Given the description of an element on the screen output the (x, y) to click on. 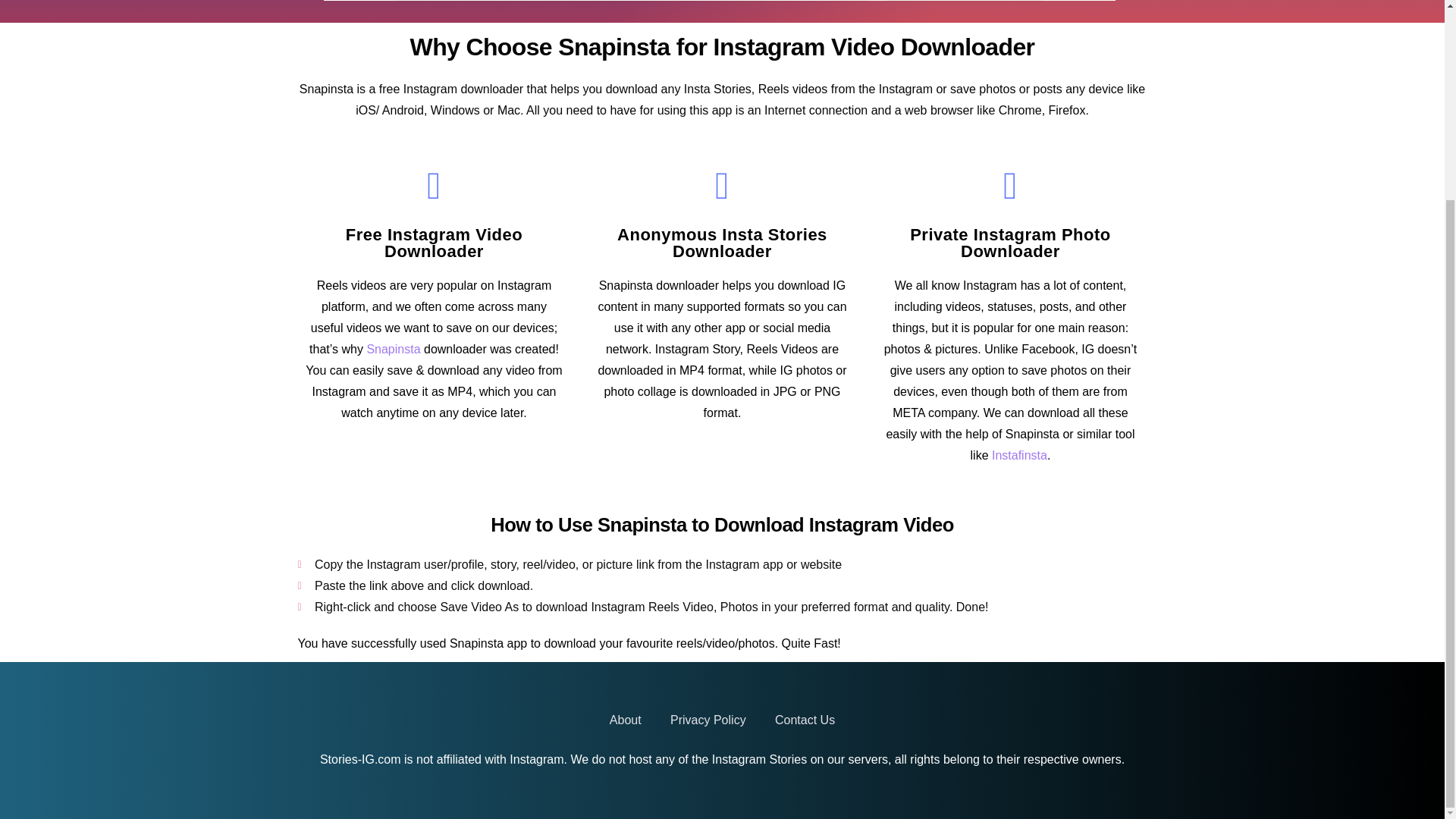
About (626, 465)
Instafinsta (1018, 454)
Contact Us (804, 465)
Snapinsta (393, 349)
Privacy Policy (707, 465)
